Given the description of an element on the screen output the (x, y) to click on. 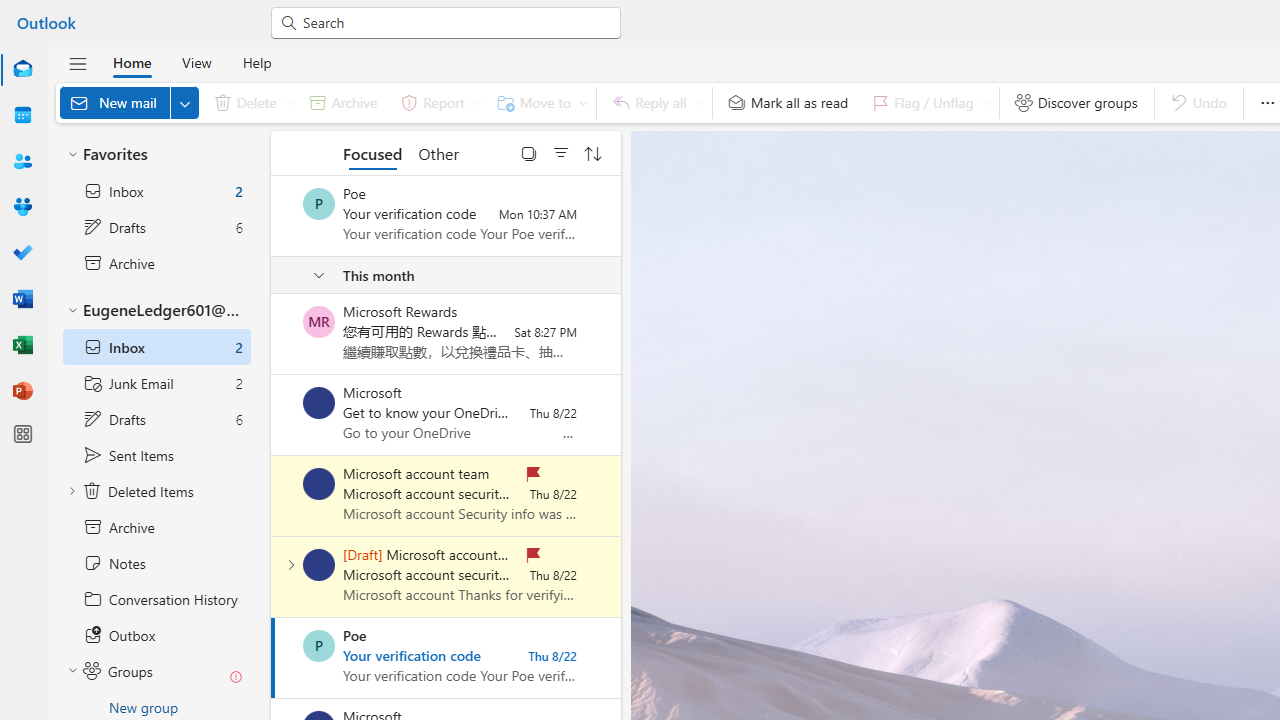
Microsoft (319, 403)
Groups (22, 206)
Expand conversation (291, 564)
Search for email, meetings, files and more. (454, 21)
Microsoft Rewards (319, 321)
More apps (22, 434)
People (22, 161)
Mark as unread (273, 577)
Select a conversation (319, 645)
Word (22, 298)
To Do (22, 254)
Calendar (22, 115)
Calendar (22, 115)
